Given the description of an element on the screen output the (x, y) to click on. 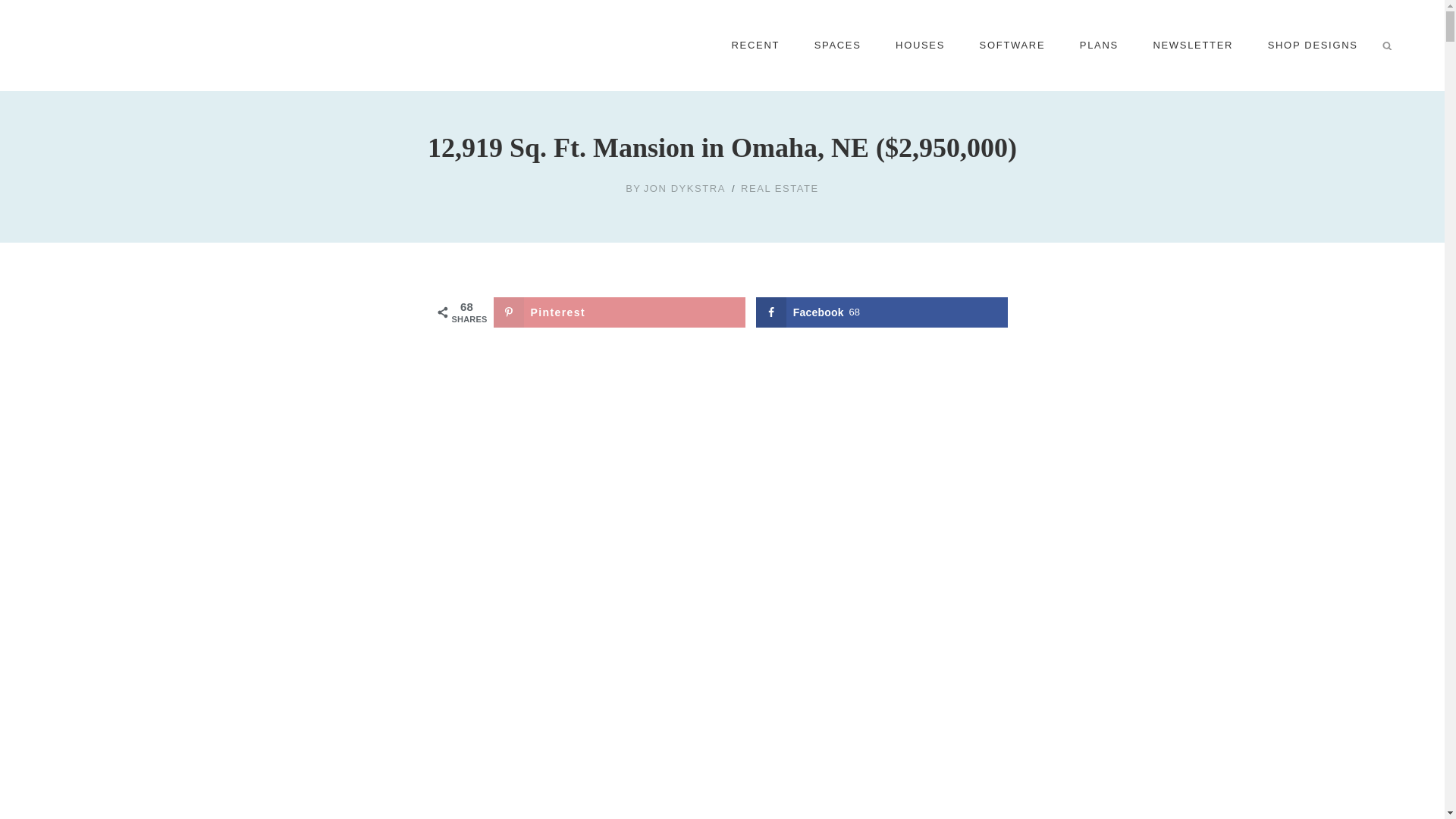
Share on Facebook (882, 312)
SPACES (836, 45)
RECENT (755, 45)
Save to Pinterest (619, 312)
